Given the description of an element on the screen output the (x, y) to click on. 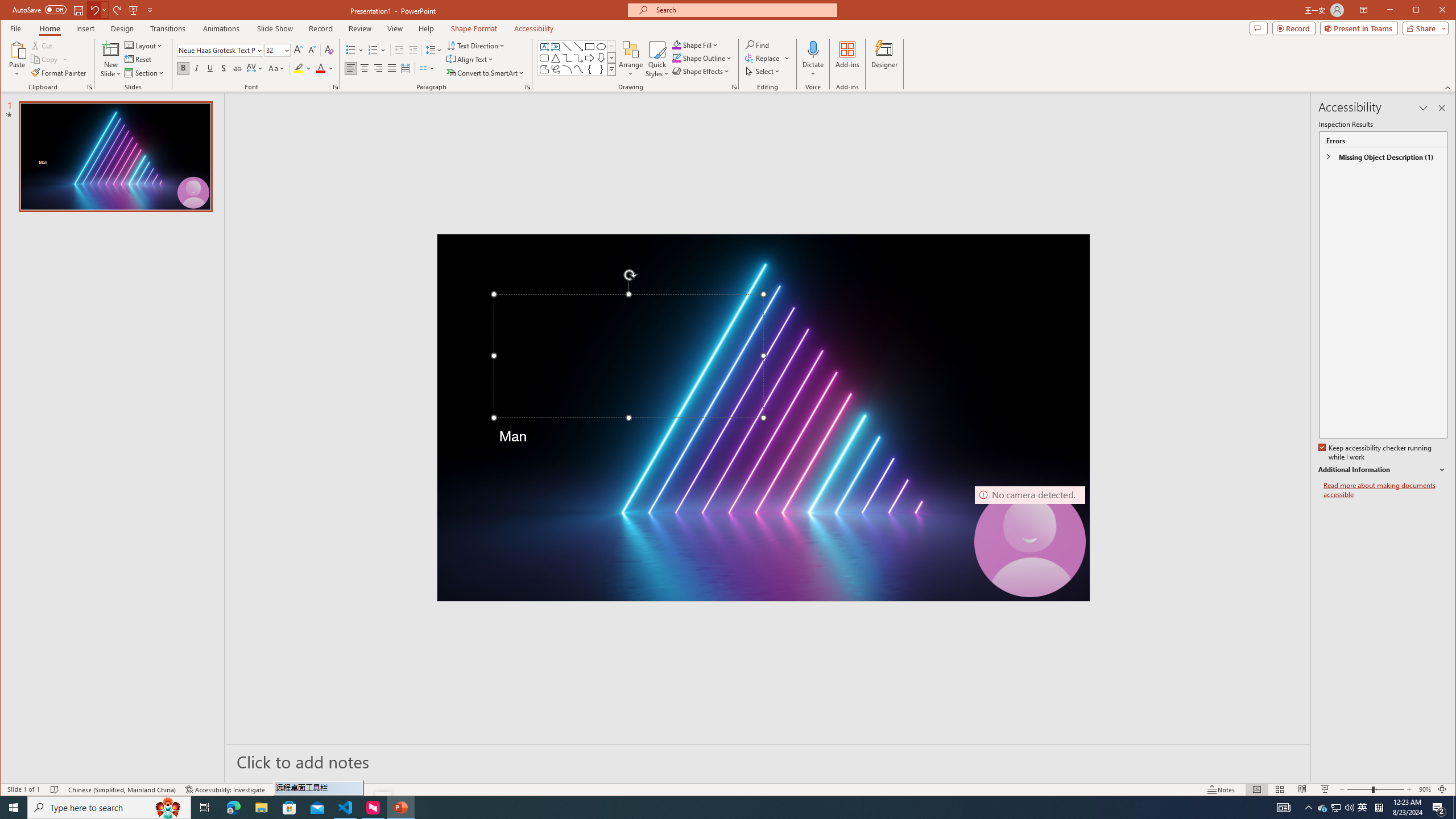
Left Brace (589, 69)
Reset (138, 59)
Shape Fill (695, 44)
PowerPoint - 1 running window (400, 807)
Office Clipboard... (89, 86)
Font Color Red (320, 68)
Decrease Indent (399, 49)
File Explorer (261, 807)
Action Center, 2 new notifications (1439, 807)
Shape Outline Blue, Accent 1 (676, 57)
Subtitle TextBox (627, 476)
Dictate (812, 48)
